Given the description of an element on the screen output the (x, y) to click on. 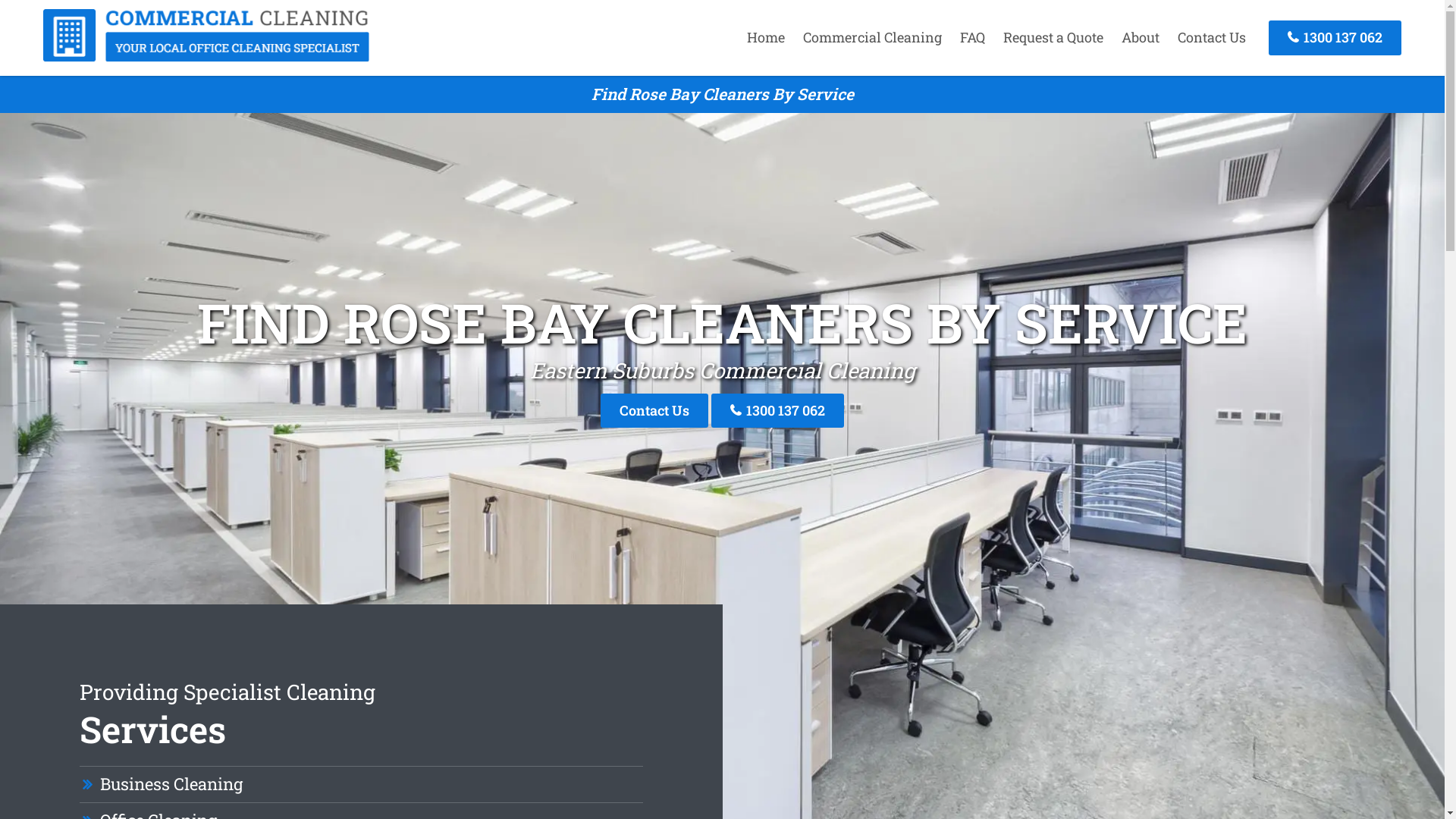
Home Element type: text (765, 37)
Request a Quote Element type: text (1052, 37)
About Element type: text (1140, 37)
1300 137 062 Element type: text (777, 410)
Business Cleaning Element type: text (171, 784)
Commercial Cleaning Element type: hover (206, 56)
FAQ Element type: text (972, 37)
Commercial Cleaning Element type: text (872, 37)
Contact Us Element type: text (654, 410)
1300 137 062 Element type: text (1334, 37)
Contact Us Element type: text (1211, 37)
